Given the description of an element on the screen output the (x, y) to click on. 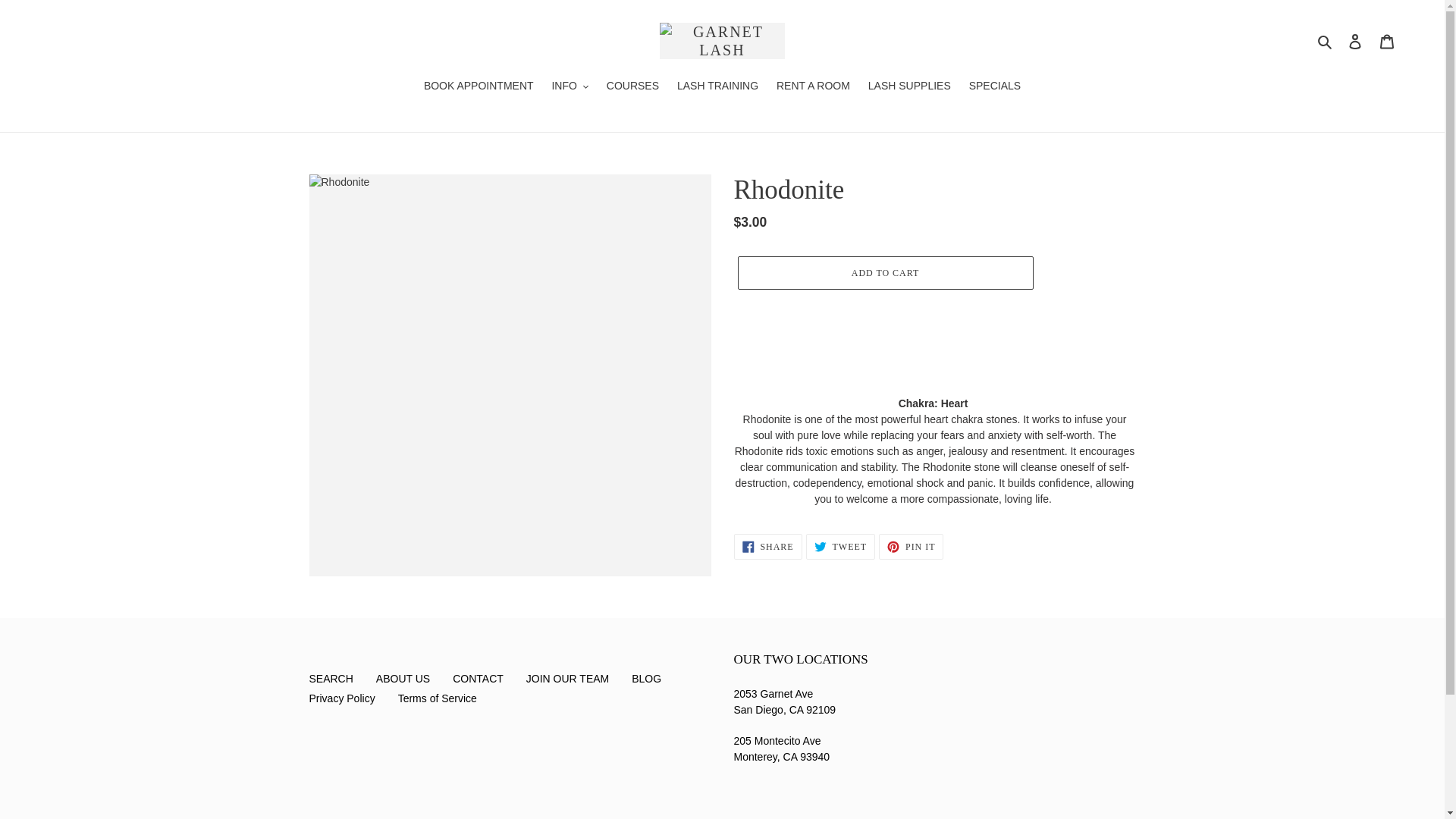
COURSES (632, 86)
RENT A ROOM (812, 86)
SPECIALS (993, 86)
ADD TO CART (884, 272)
Cart (1387, 40)
Log in (1355, 40)
LASH SUPPLIES (909, 86)
Search (1326, 40)
BOOK APPOINTMENT (478, 86)
LASH TRAINING (717, 86)
INFO (569, 86)
